Given the description of an element on the screen output the (x, y) to click on. 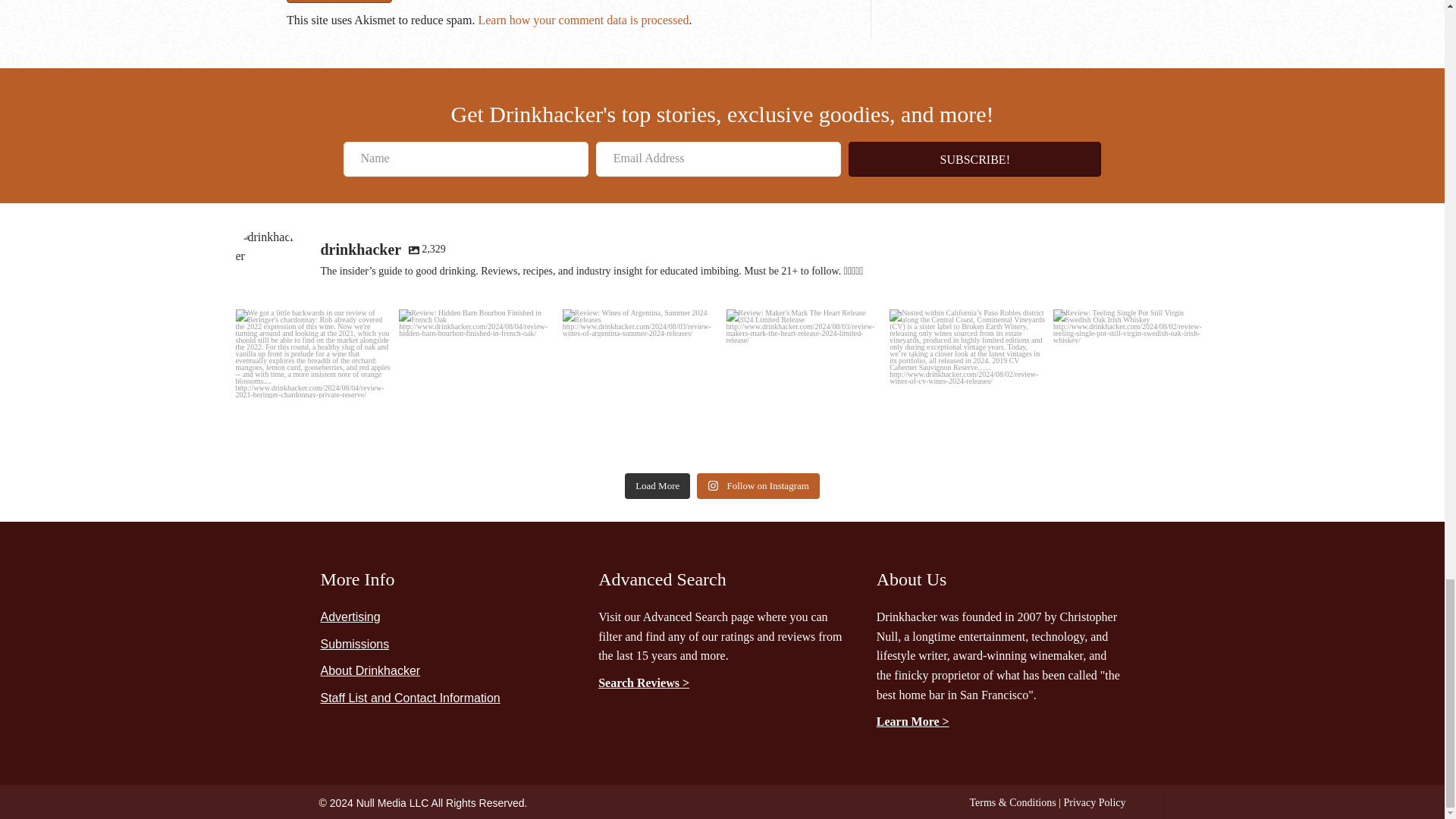
Submit Comment (338, 1)
